Given the description of an element on the screen output the (x, y) to click on. 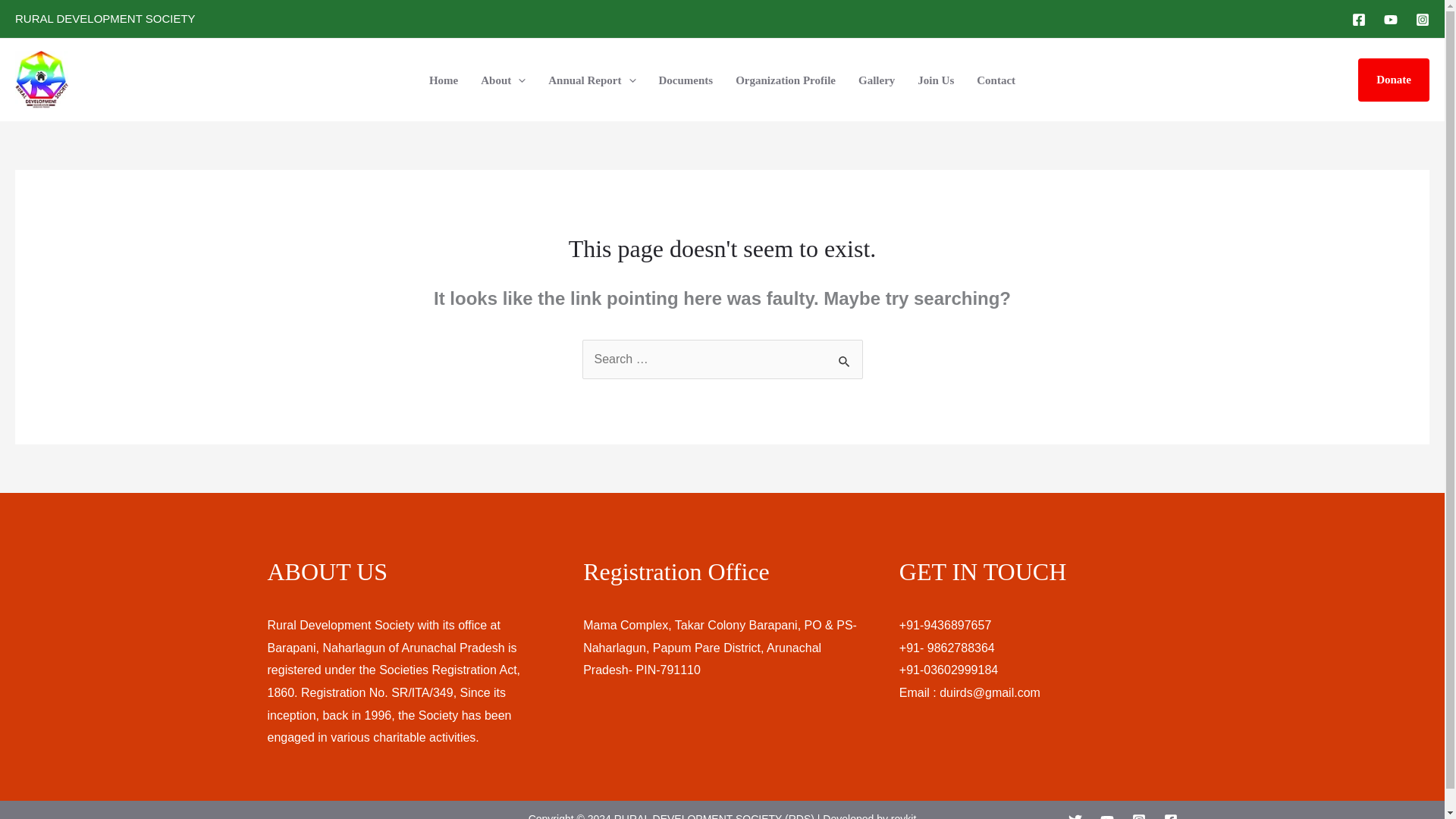
Contact (995, 79)
Organization Profile (785, 79)
About (502, 79)
Home (442, 79)
Documents (686, 79)
Annual Report (591, 79)
Donate (1393, 80)
Join Us (935, 79)
Gallery (876, 79)
